Given the description of an element on the screen output the (x, y) to click on. 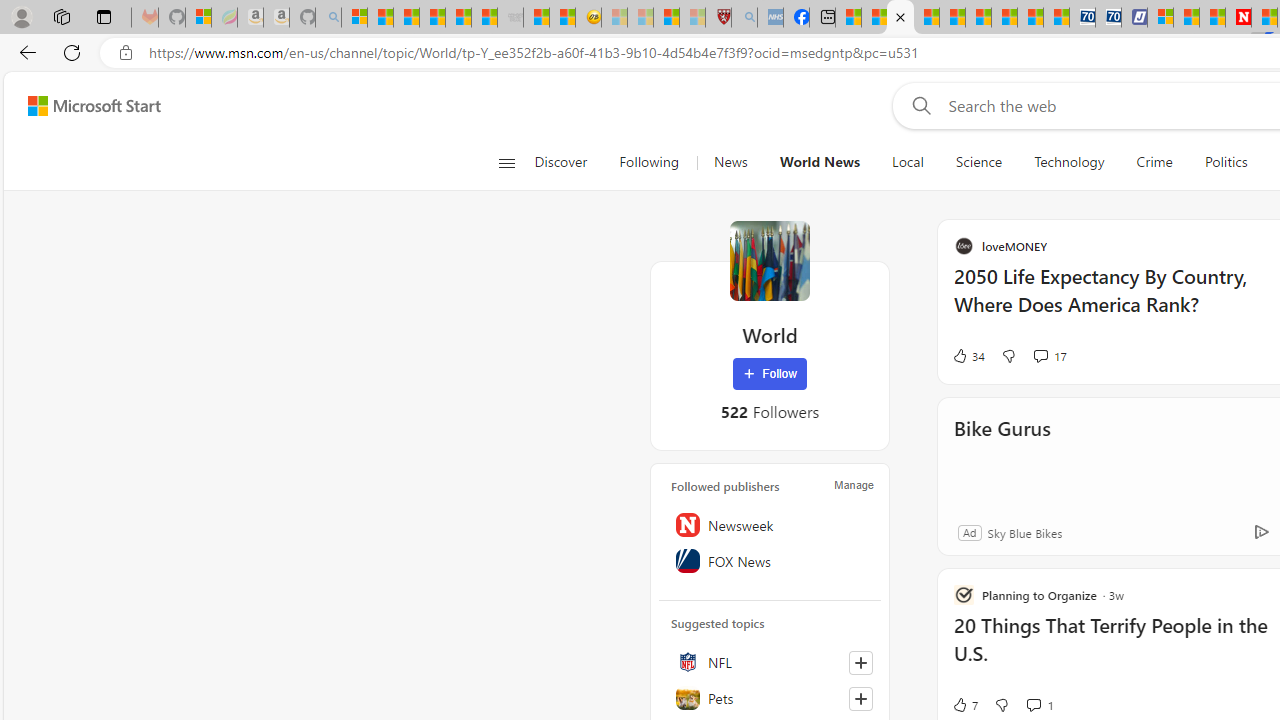
Sky Blue Bikes (1024, 532)
Newsweek (770, 525)
NFL (770, 661)
The Weather Channel - MSN (406, 17)
FOX News (770, 561)
World (769, 260)
